Given the description of an element on the screen output the (x, y) to click on. 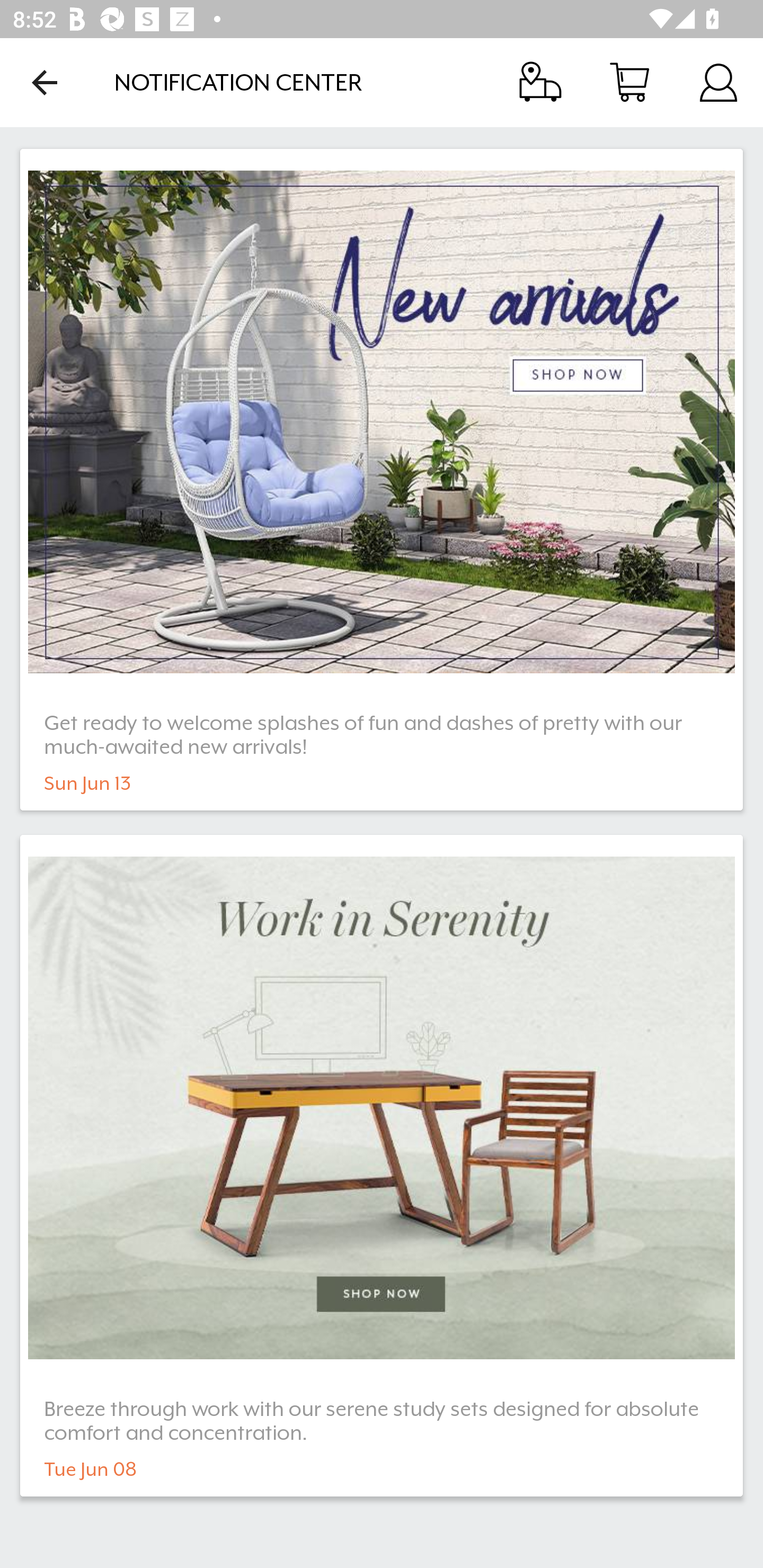
Navigate up (44, 82)
Track Order (540, 81)
Cart (629, 81)
Account Details (718, 81)
